Given the description of an element on the screen output the (x, y) to click on. 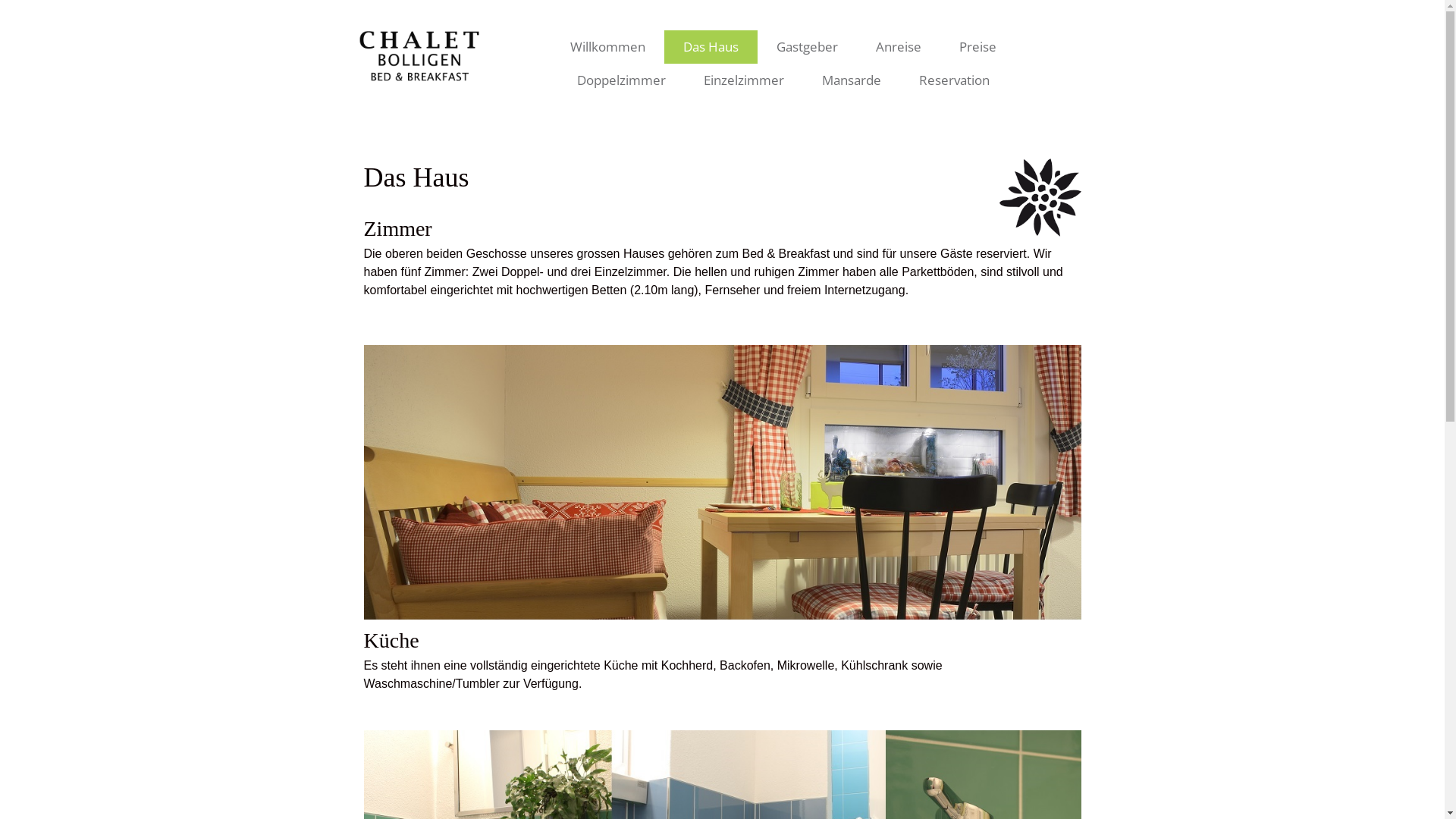
Reservation Element type: text (954, 80)
Das Haus Element type: text (710, 46)
Doppelzimmer Element type: text (621, 80)
Gastgeber Element type: text (806, 46)
Mansarde Element type: text (851, 80)
Anreise Element type: text (898, 46)
Preise Element type: text (977, 46)
Einzelzimmer Element type: text (743, 80)
Willkommen Element type: text (607, 46)
